Given the description of an element on the screen output the (x, y) to click on. 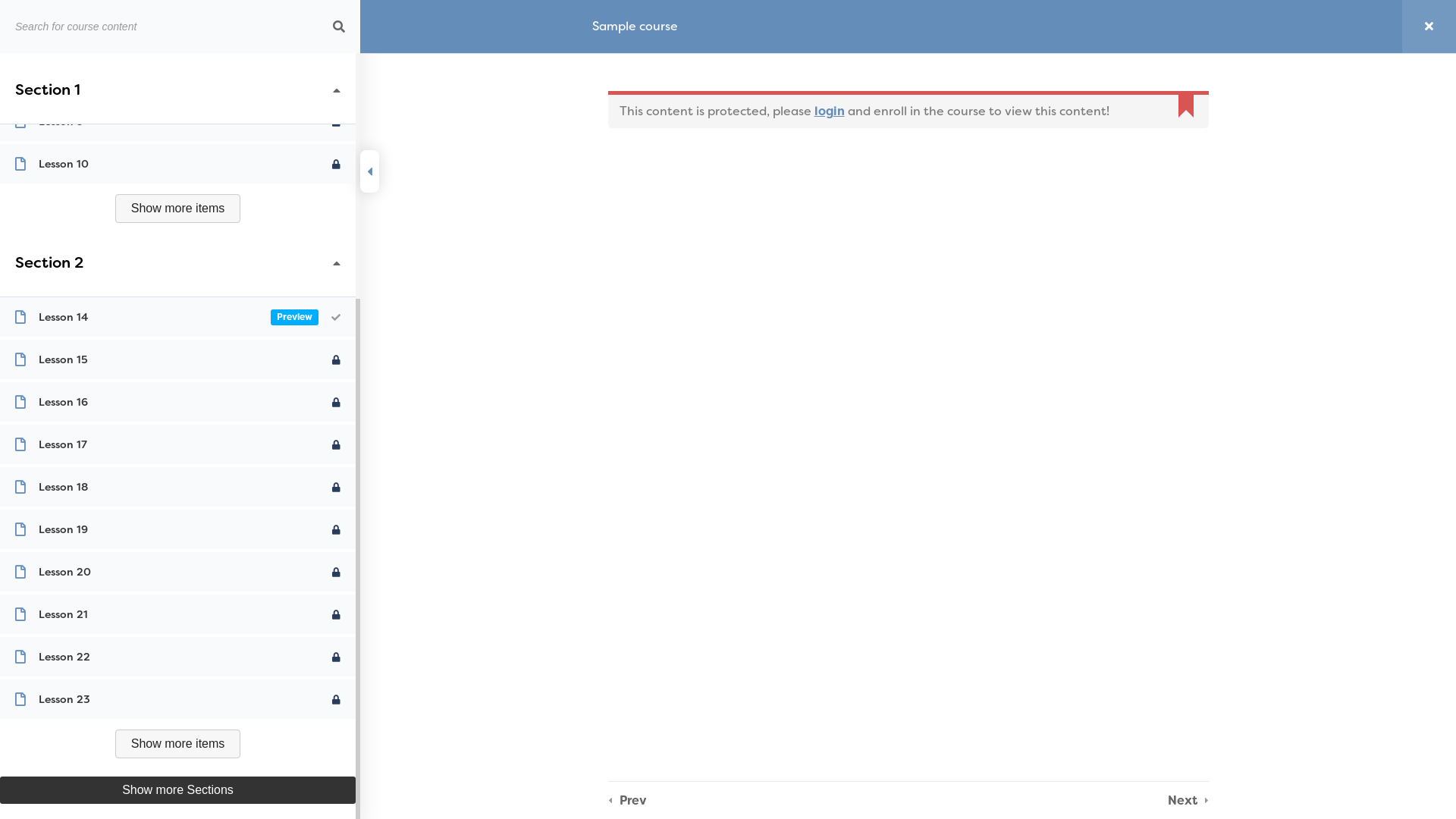
Unread Element type: hover (336, 164)
Lesson 9 Element type: text (177, 121)
WA Initiatives Element type: text (619, 326)
Lesson 23 Element type: text (177, 699)
Lesson 10 Element type: text (177, 163)
Home Element type: text (649, 43)
Unread Element type: hover (336, 121)
Unread Element type: hover (336, 614)
About Element type: text (619, 246)
Lesson 7 Element type: text (177, 36)
Lesson 8 Element type: text (177, 78)
News Element type: text (619, 379)
Unread Element type: hover (336, 36)
Unread Element type: hover (336, 402)
Unread Element type: hover (336, 699)
Lesson 21 Element type: text (177, 614)
Resources Element type: text (1188, 43)
Unread Element type: hover (336, 359)
Lesson 16 Element type: text (177, 401)
Contact Element type: text (619, 405)
Unread Element type: hover (336, 487)
Lesson 20 Element type: text (177, 571)
READ MORE Element type: text (1010, 343)
Contact Element type: text (1329, 43)
Lesson 15 Element type: text (177, 359)
Resources Element type: text (619, 352)
WA Initiatives Element type: text (1090, 43)
About Element type: text (713, 43)
Lesson 14 Element type: text (177, 316)
Unread Element type: hover (336, 657)
Primary Prevention Element type: text (619, 273)
Lesson 19 Element type: text (177, 529)
Unread Element type: hover (336, 572)
Sample course Element type: text (634, 26)
Show more items Element type: text (178, 743)
Professional Learning Element type: text (619, 299)
An update on the Primary Prevention Framework Element type: text (1032, 282)
Unread Element type: hover (336, 529)
Unread Element type: hover (336, 444)
News Element type: text (1261, 43)
Lesson 17 Element type: text (177, 444)
Unread Element type: hover (336, 79)
Show more items Element type: text (178, 208)
Professional Learning Element type: text (960, 43)
Lesson 22 Element type: text (177, 656)
Lesson 18 Element type: text (177, 486)
Stopping Family Violence Element type: text (613, 527)
Show more Sections Element type: text (177, 789)
SUBSCRIBE Element type: text (835, 390)
Unread Element type: hover (335, 317)
login Element type: text (829, 111)
Primary Prevention Element type: text (815, 43)
